Given the description of an element on the screen output the (x, y) to click on. 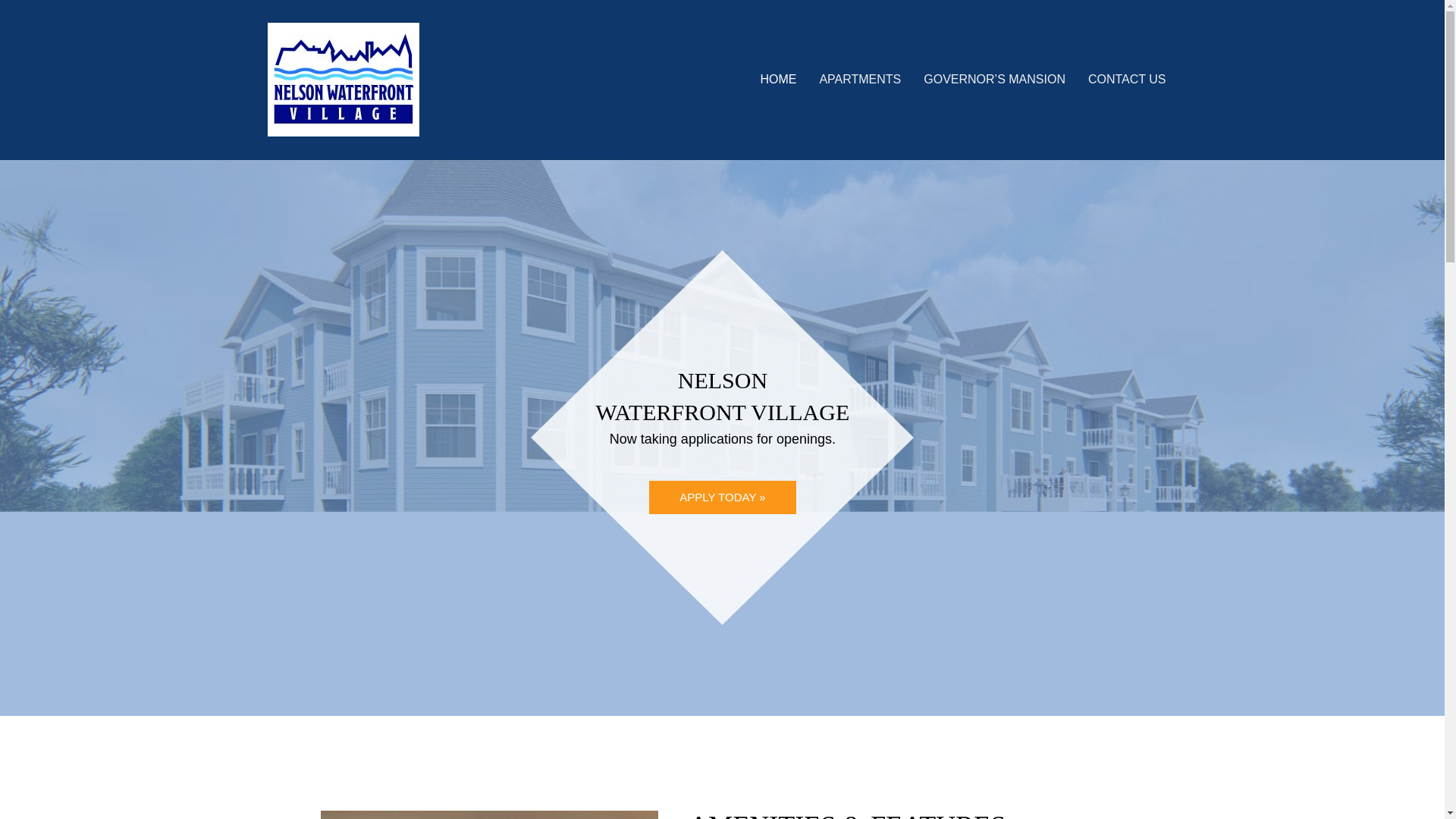
APARTMENTS (860, 79)
CONTACT US (1127, 79)
HOME (778, 79)
